Given the description of an element on the screen output the (x, y) to click on. 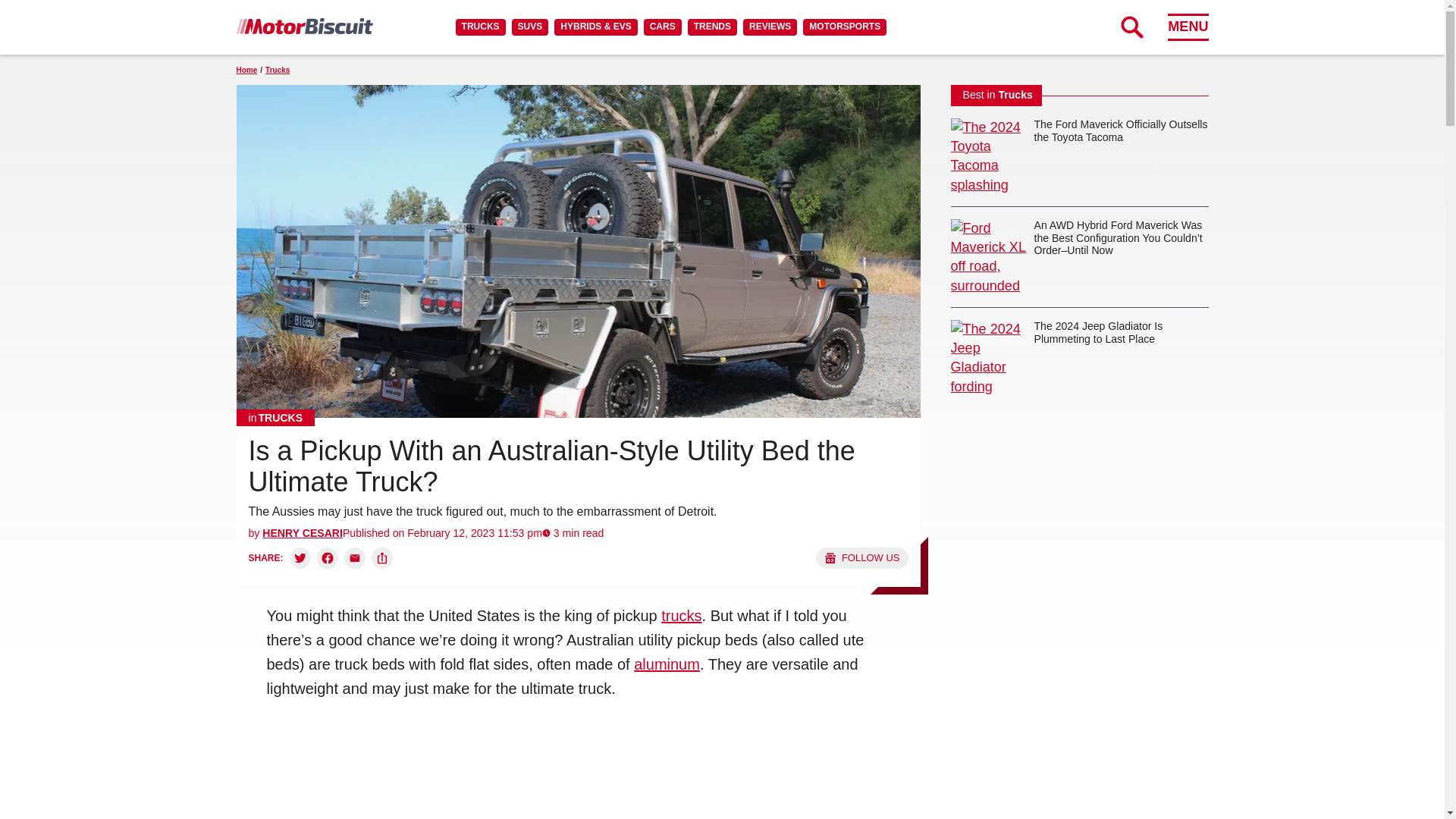
SUVS (530, 26)
TRUCKS (480, 26)
REVIEWS (769, 26)
Follow us on Google News (861, 557)
MOTORSPORTS (844, 26)
Trucks (275, 417)
CARS (662, 26)
Expand Search (1131, 26)
Copy link and share:  (382, 557)
MENU (1187, 26)
MotorBiscuit (303, 26)
TRENDS (711, 26)
